Given the description of an element on the screen output the (x, y) to click on. 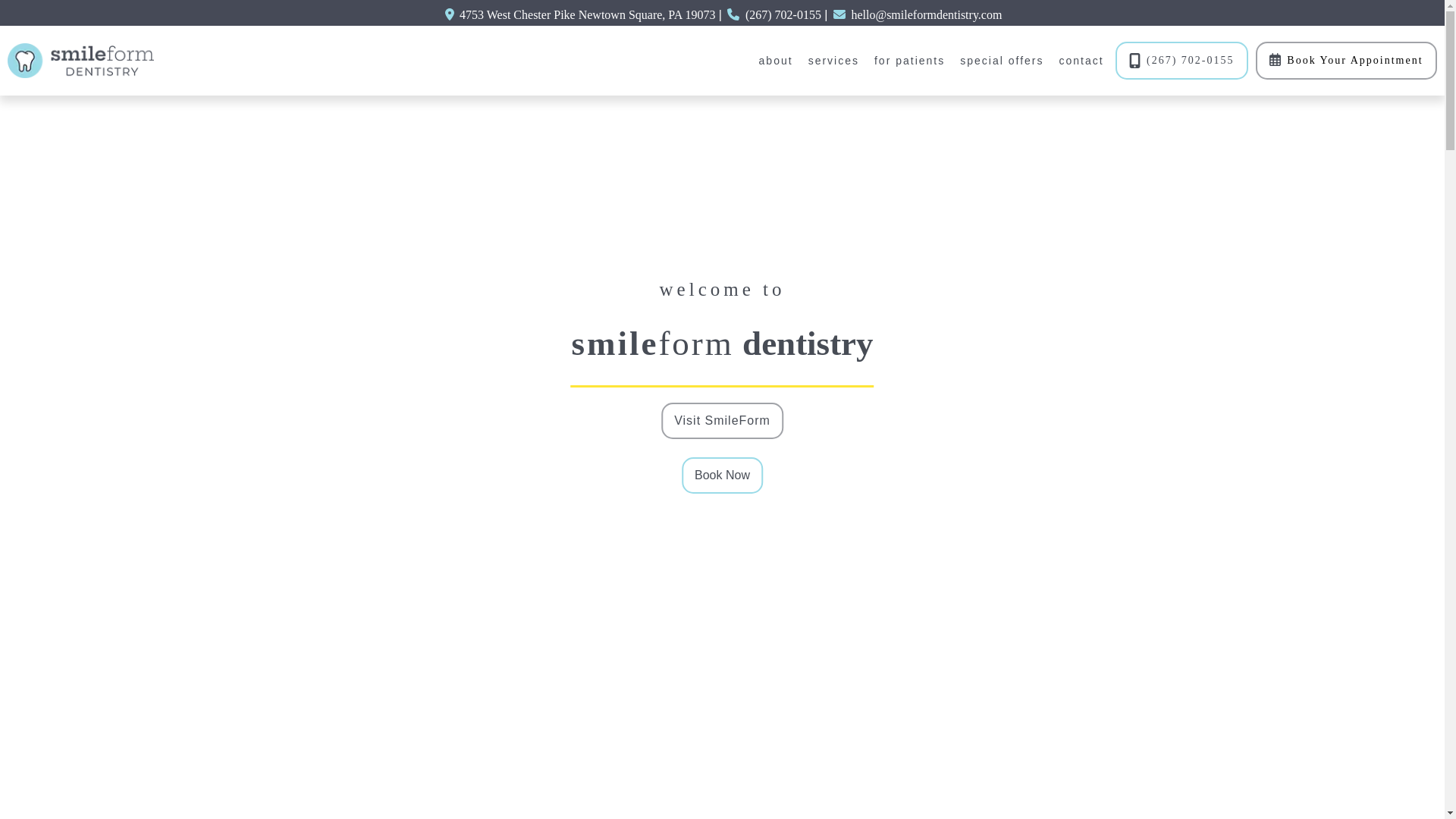
contact (1080, 60)
services (834, 60)
about (775, 60)
for patients (909, 60)
Book Now (721, 475)
Visit SmileForm (722, 420)
4753 West Chester Pike Newtown Square, PA 19073 (587, 14)
special offers (1001, 60)
Book Your Appointment (1345, 60)
